Given the description of an element on the screen output the (x, y) to click on. 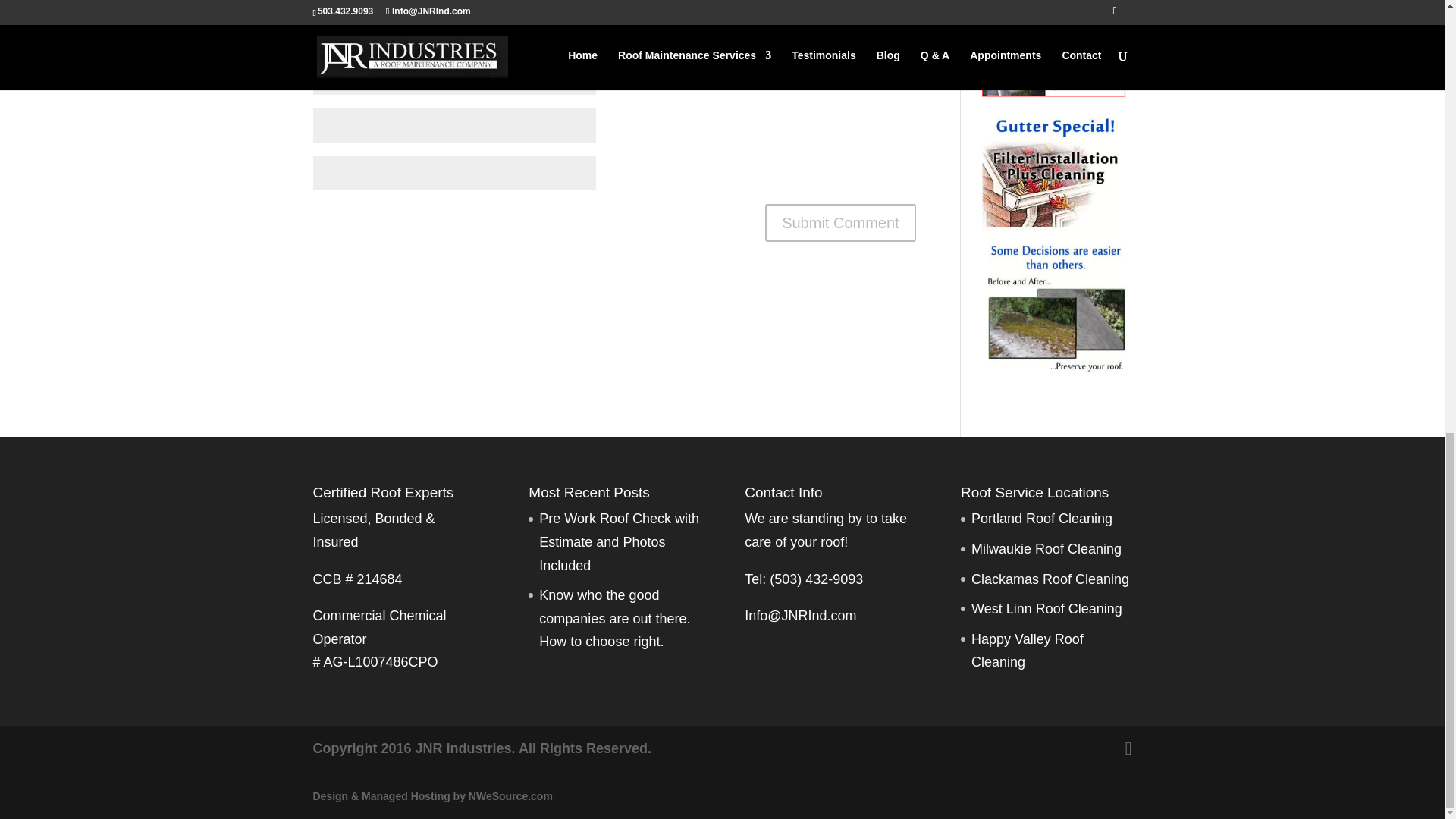
Portland Roof Cleaning (1041, 518)
Submit Comment (840, 222)
Pre Work Roof Check with Estimate and Photos Included (618, 541)
Submit Comment (840, 222)
